Given the description of an element on the screen output the (x, y) to click on. 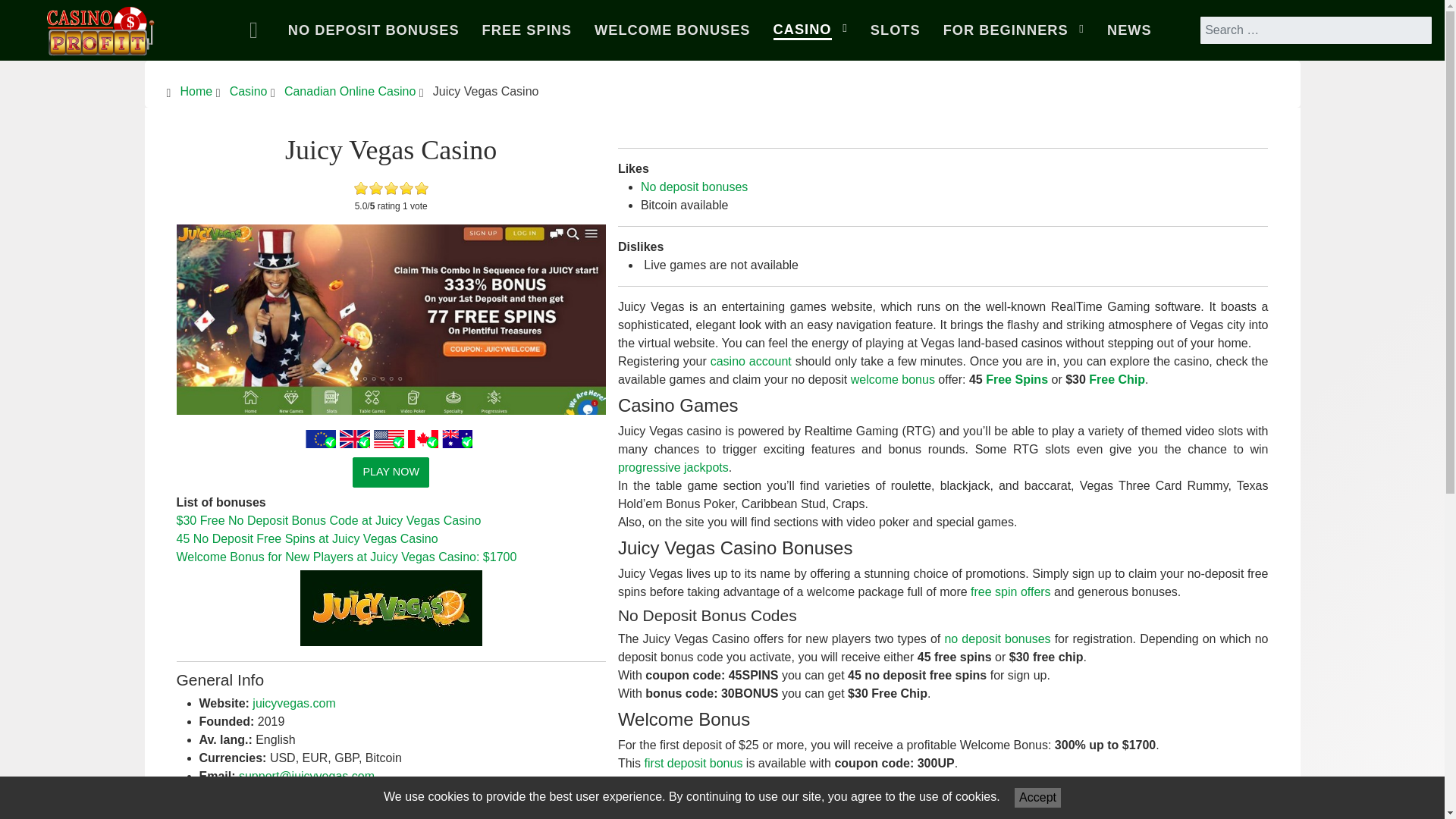
Bonus Profit (100, 28)
Home (196, 91)
Canadian Online Casino (348, 91)
SLOTS (895, 29)
juicyvegas.com (292, 703)
Home (257, 30)
welcome bonus (892, 379)
1 out of 5 (360, 187)
EU availible (320, 438)
NEWS (1128, 29)
